Given the description of an element on the screen output the (x, y) to click on. 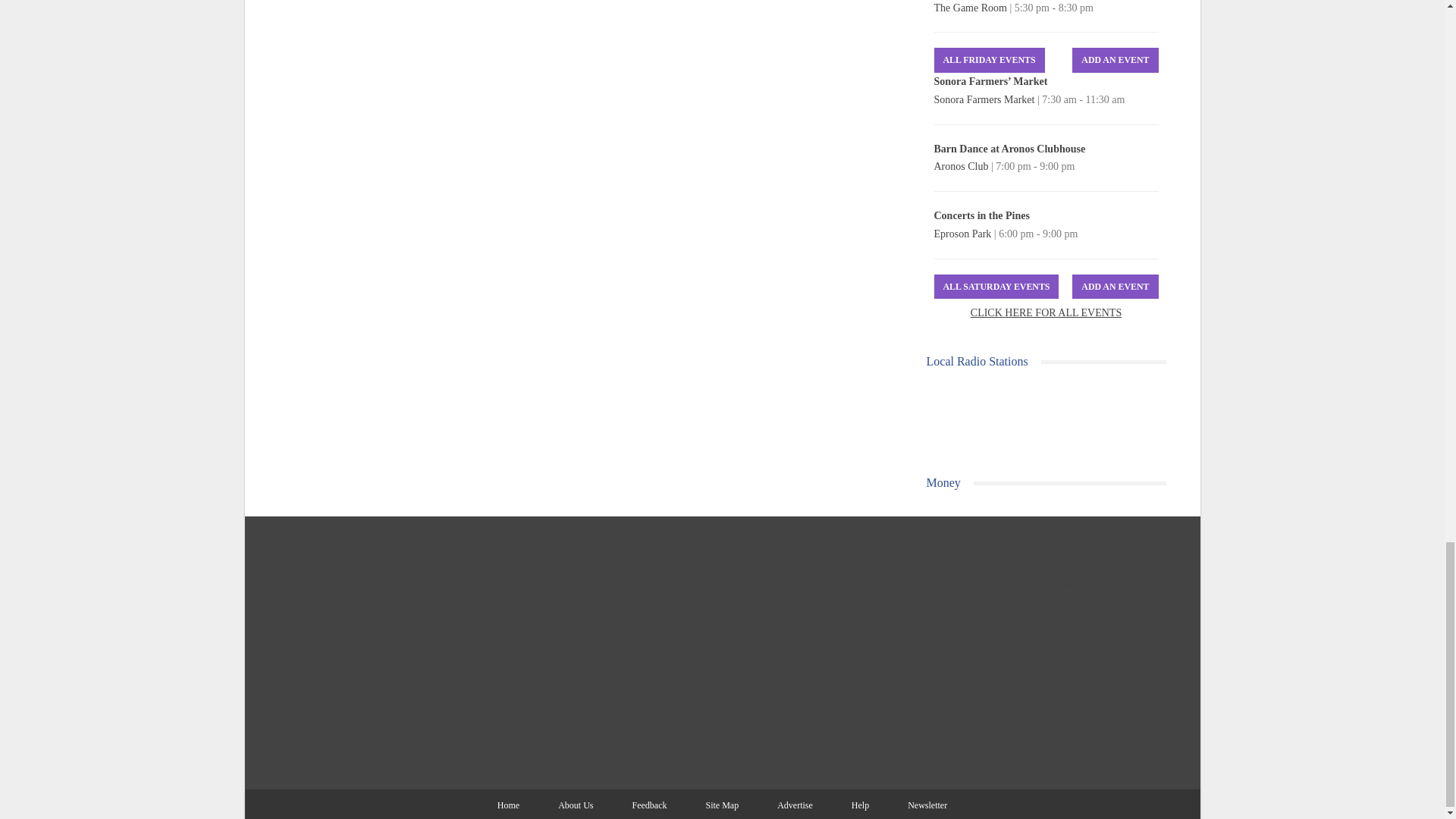
Add An Event (1114, 59)
All Saturday Events (996, 286)
Add An Event (1114, 286)
All Friday Events (989, 59)
